Given the description of an element on the screen output the (x, y) to click on. 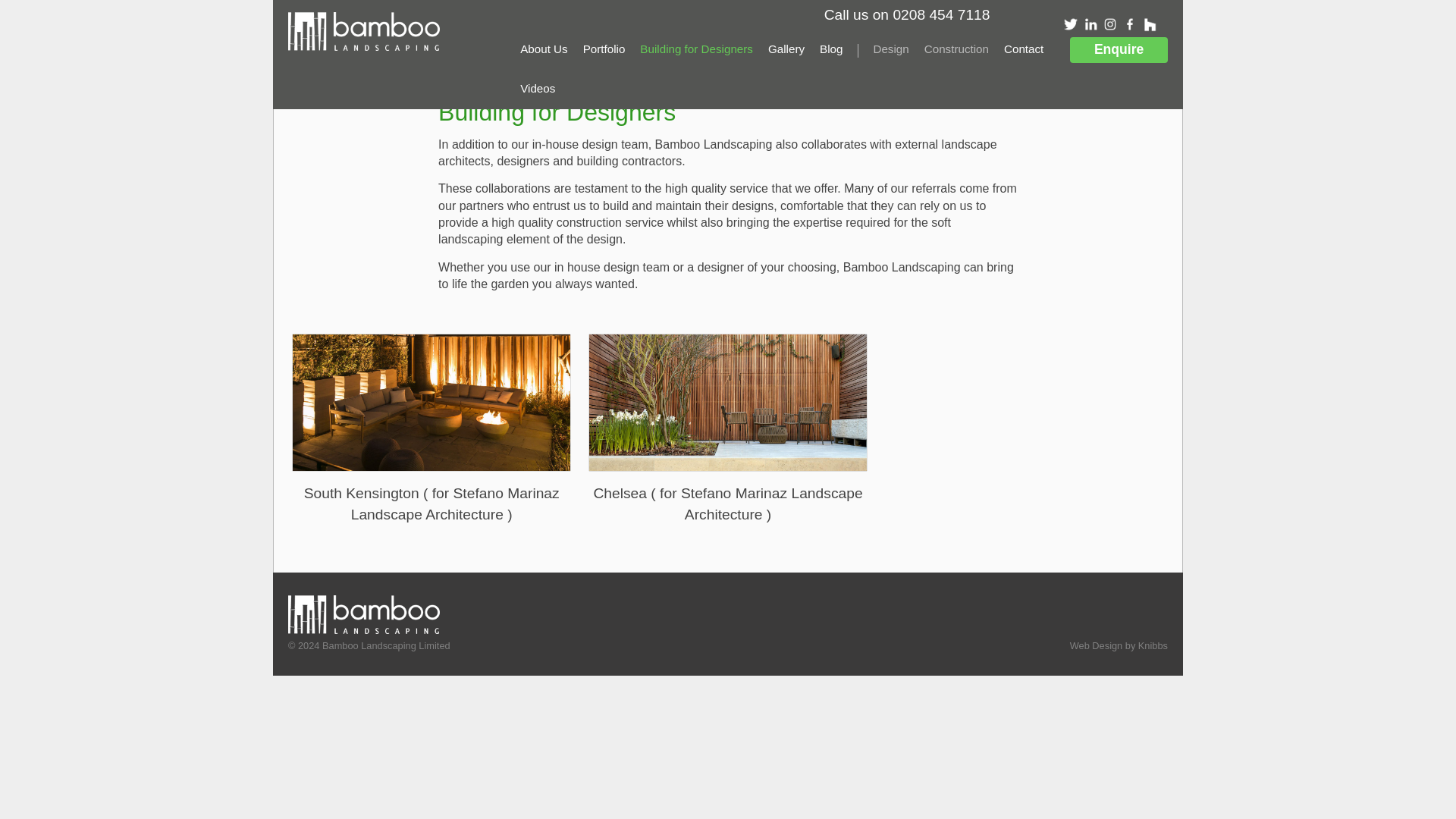
Gallery (786, 48)
Web Design by Knibbs (1118, 645)
Houzz logo (1149, 23)
Contact (1023, 48)
Facebook logo (1129, 23)
Building for Designers (695, 48)
Instagram logo (1110, 23)
0208 454 7118 (941, 14)
Design (889, 48)
LinkedIn logo (1090, 23)
Videos (537, 87)
Portfolio (604, 48)
Construction (956, 48)
Blog (831, 48)
Twitter logo (1070, 23)
